Given the description of an element on the screen output the (x, y) to click on. 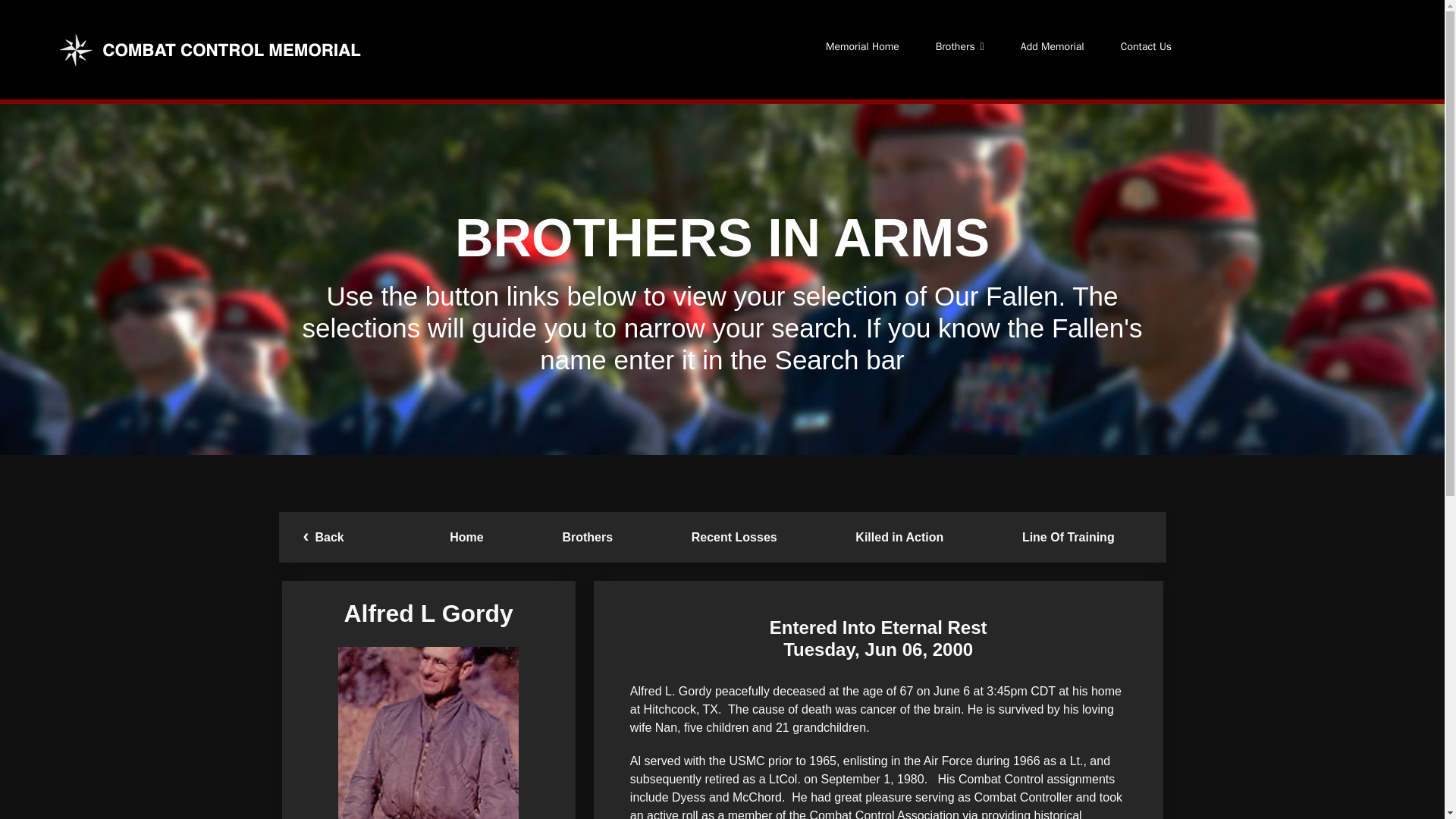
Home (466, 537)
Memorial Home (862, 46)
Brothers (587, 537)
Recent Losses (734, 537)
Brothers (959, 46)
Contact Us (1145, 46)
Killed in Action (900, 537)
Line Of Training (1067, 537)
Add Memorial (1052, 46)
